Given the description of an element on the screen output the (x, y) to click on. 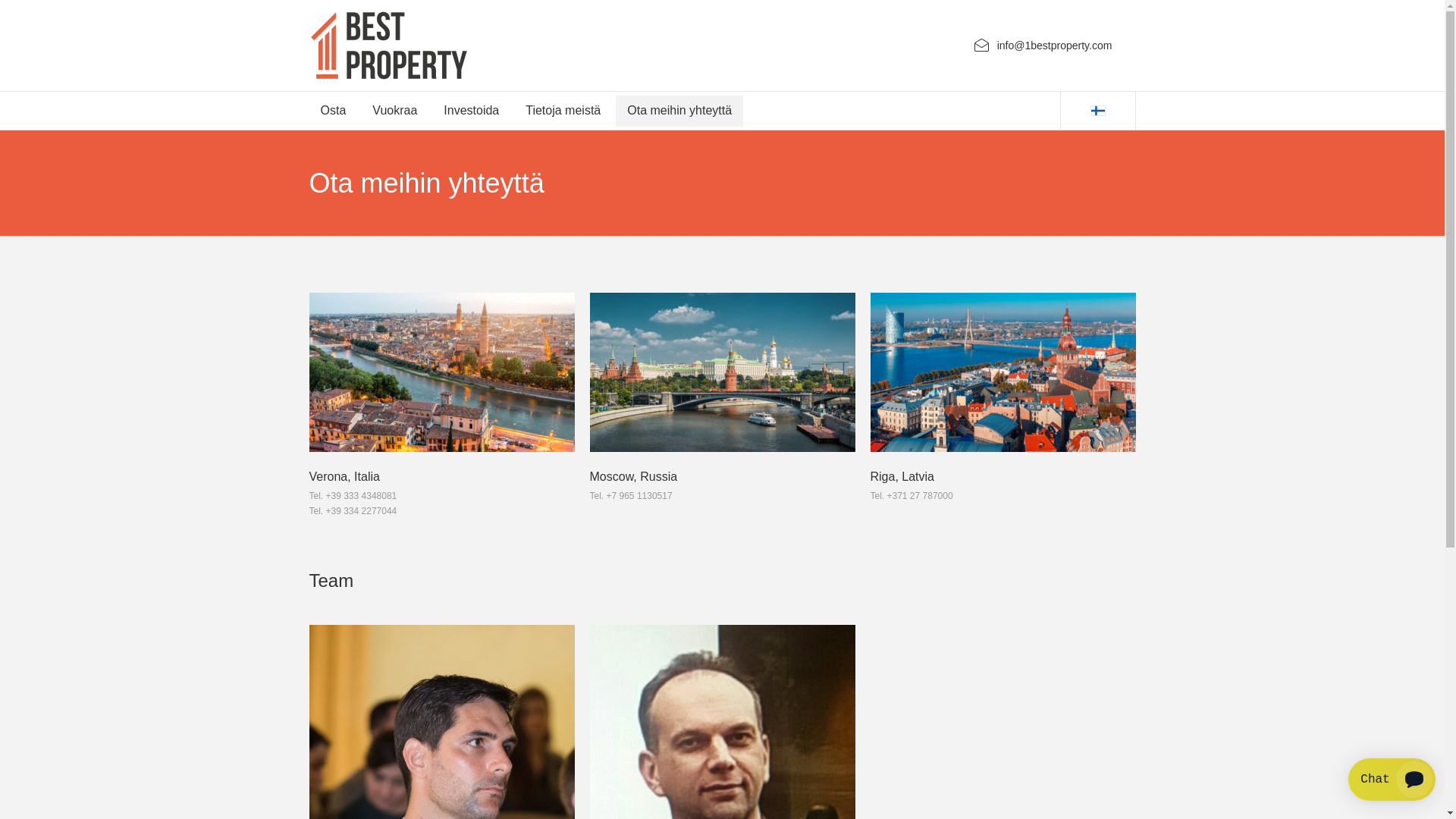
Osta Element type: text (333, 110)
Vuokraa Element type: text (394, 110)
info@1bestproperty.com Element type: text (1054, 45)
Investoida Element type: text (471, 110)
Smartsupp widget button Element type: hover (1391, 779)
